Given the description of an element on the screen output the (x, y) to click on. 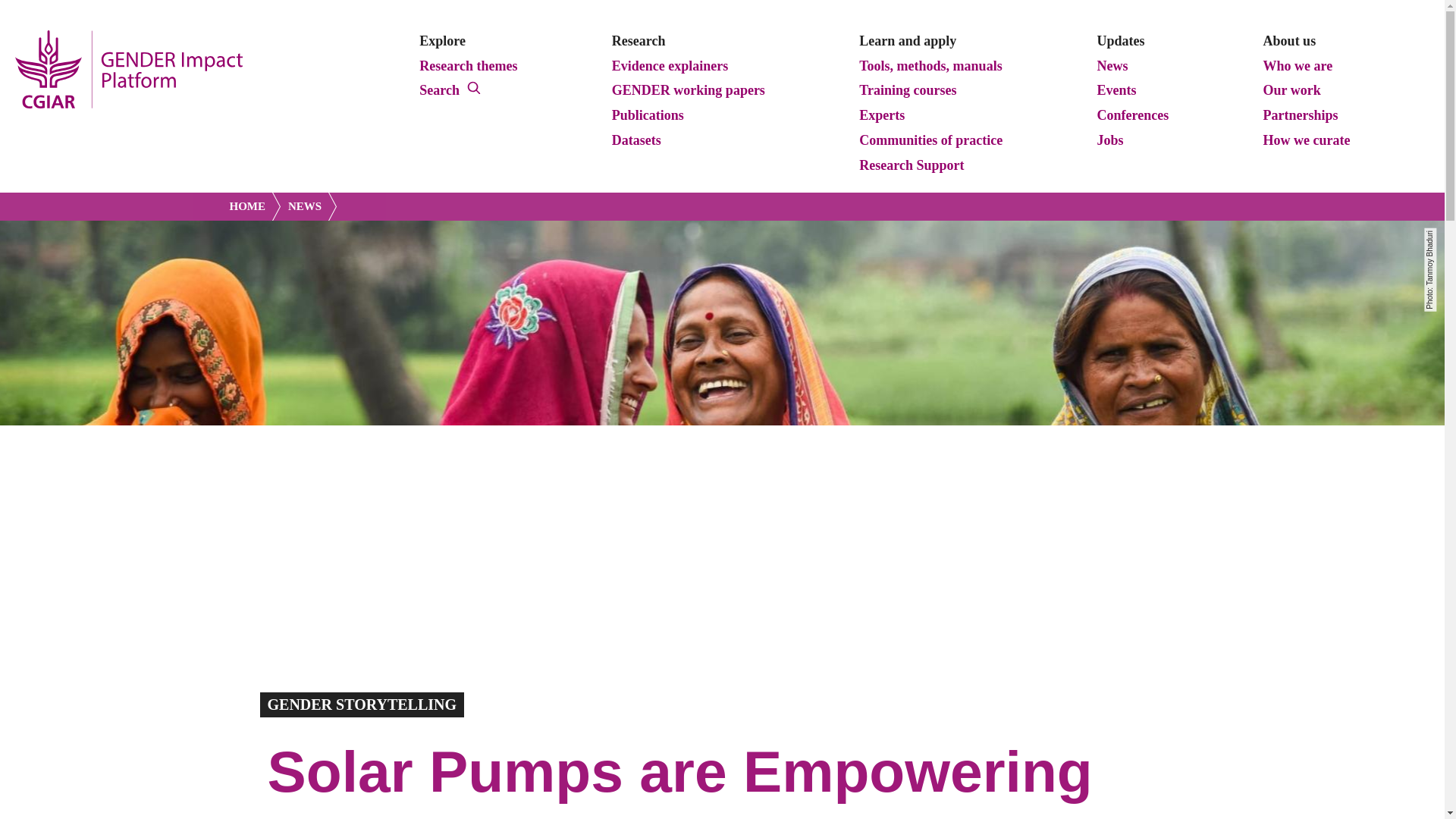
Datasets (636, 140)
Jobs (1110, 140)
Who we are (1297, 66)
How we curate (1306, 140)
HOME (254, 206)
GENDER working papers (688, 90)
Evidence explainers (670, 66)
Partnerships (1300, 115)
Conferences (1132, 115)
Communities of practice (930, 140)
NEWS (308, 206)
Research Support (911, 165)
Publications (647, 115)
Tools, methods, manuals (930, 66)
News (1112, 66)
